Given the description of an element on the screen output the (x, y) to click on. 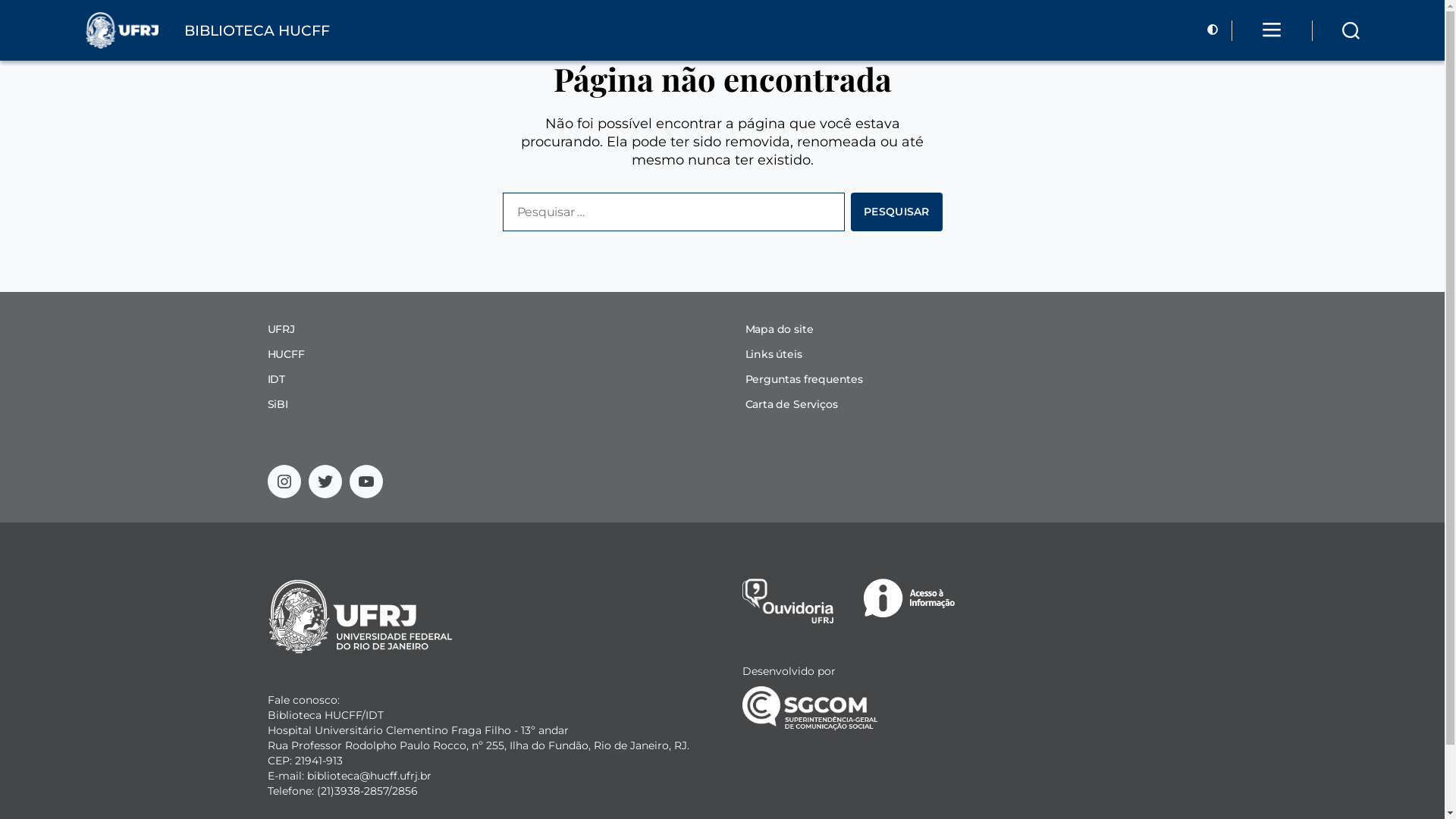
Mapa do site Element type: text (778, 328)
UFRJ Element type: text (280, 328)
Pesquisar Element type: text (895, 211)
IDT Element type: text (275, 378)
Instagram Element type: text (283, 481)
BIBLIOTECA HUCFF Element type: text (197, 26)
Perguntas frequentes Element type: text (803, 378)
Twitter Element type: text (324, 481)
YouTube Element type: text (365, 481)
SiBI Element type: text (276, 404)
HUCFF Element type: text (285, 353)
